Given the description of an element on the screen output the (x, y) to click on. 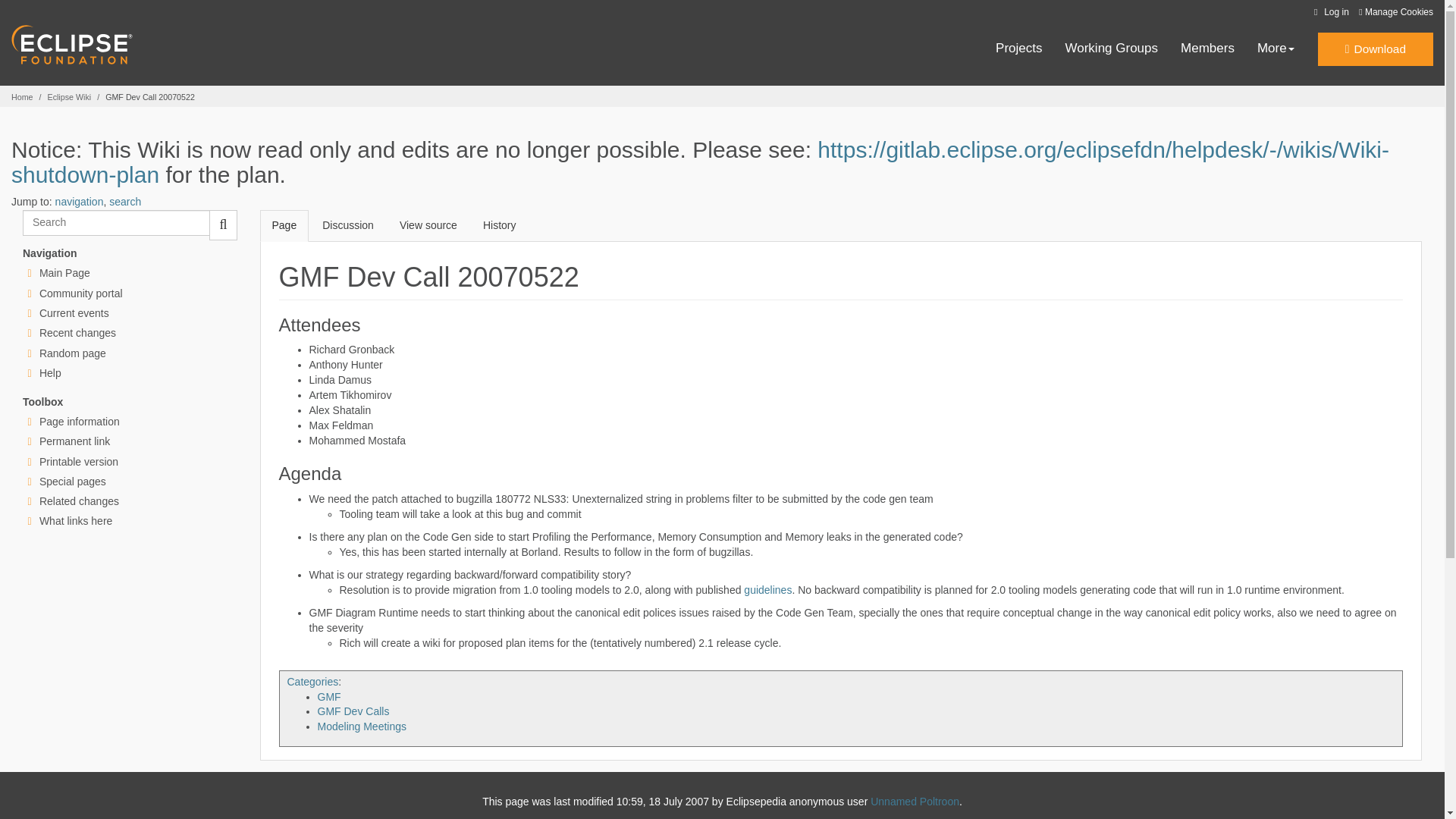
Find background information on current events (74, 313)
Members (1207, 48)
Manage Cookies (1395, 12)
The place to find out (50, 372)
Download (1374, 49)
Log in (1328, 12)
Permanent link to this revision of the page (74, 440)
Special:Search (116, 222)
Search the pages for this text (222, 224)
About the project, what you can do, where to find things (80, 293)
Working Groups (1111, 48)
Projects (1018, 48)
More (1275, 48)
More information about this page (79, 421)
